Given the description of an element on the screen output the (x, y) to click on. 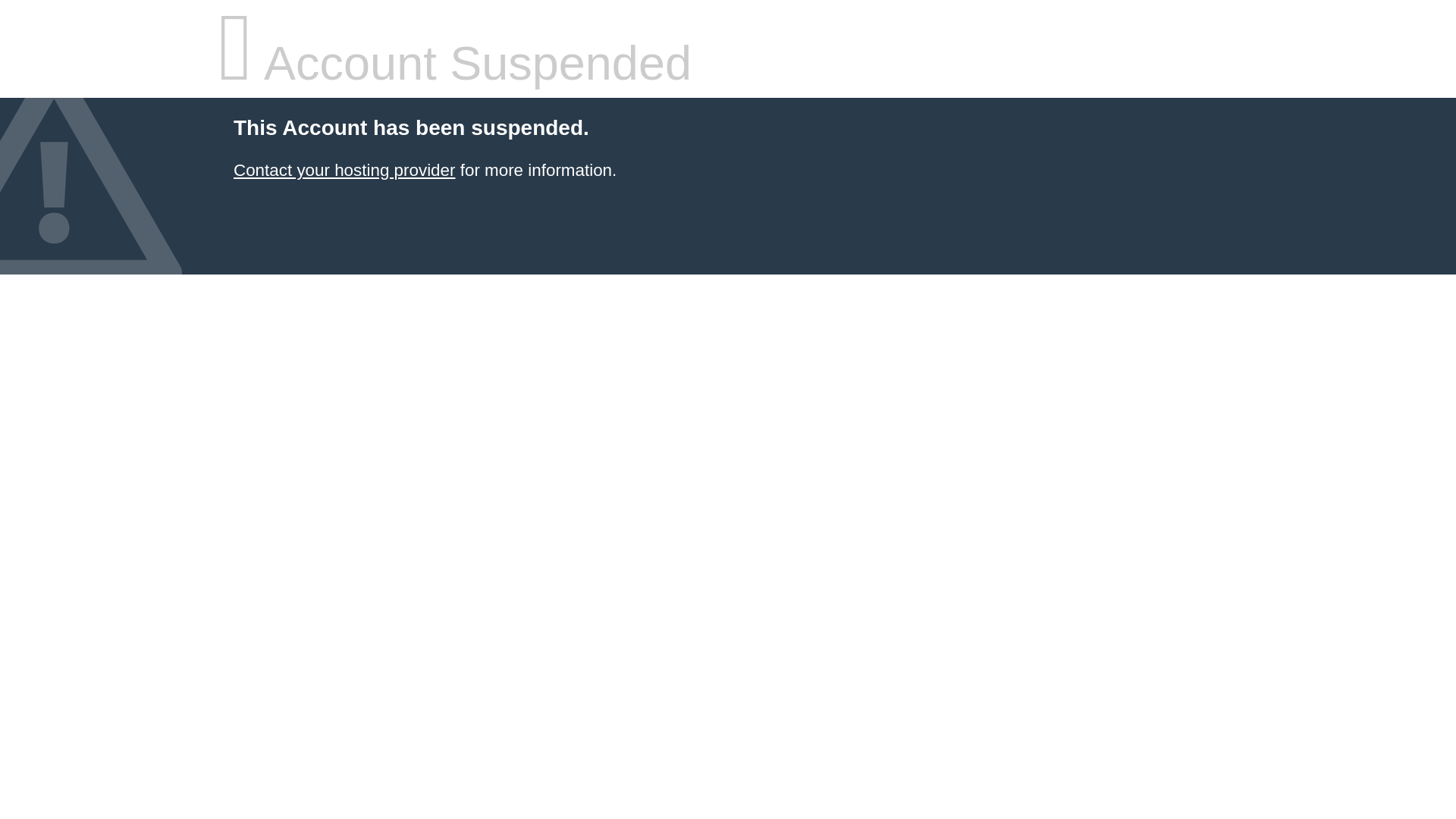
Contact your hosting provider (343, 169)
